Given the description of an element on the screen output the (x, y) to click on. 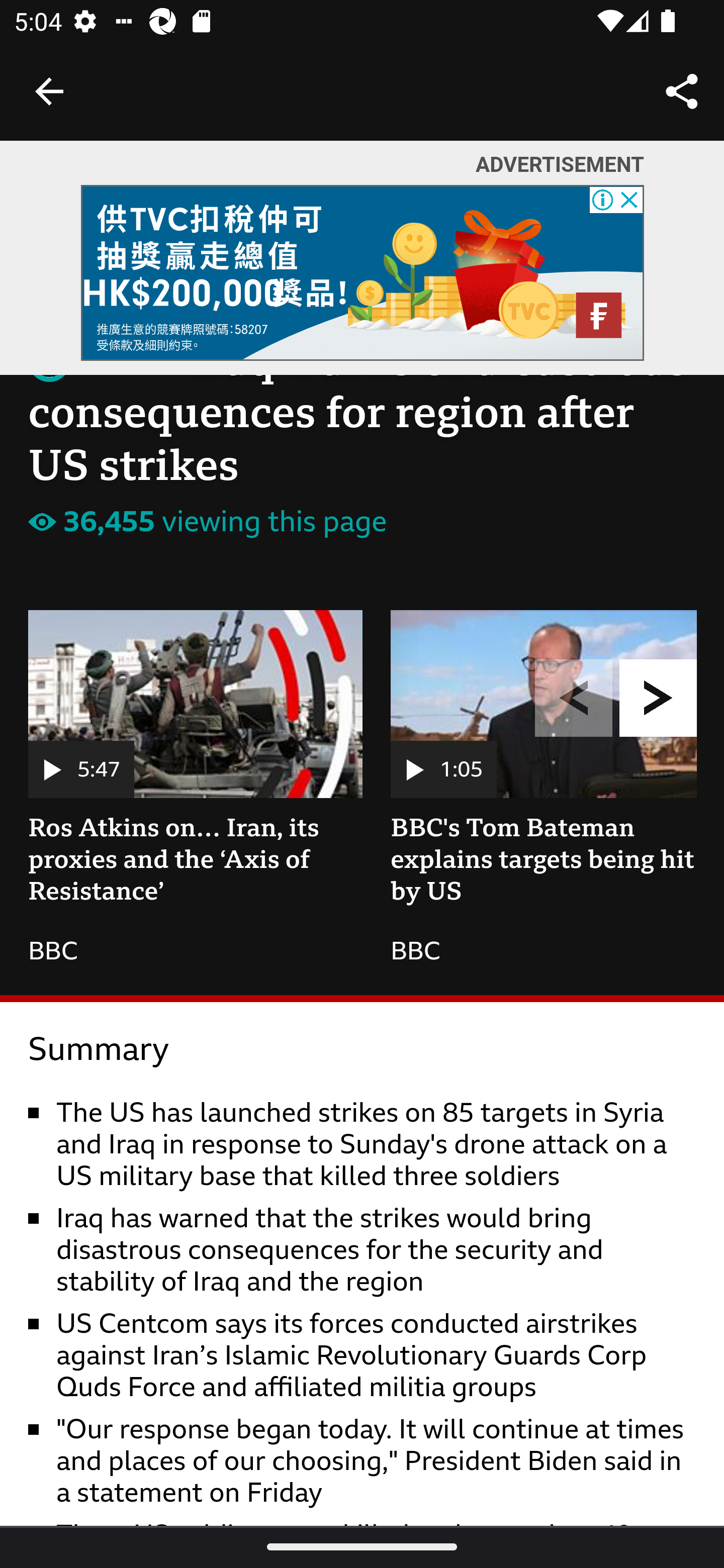
Back (49, 91)
Share (681, 90)
previous (574, 698)
next (658, 698)
